Given the description of an element on the screen output the (x, y) to click on. 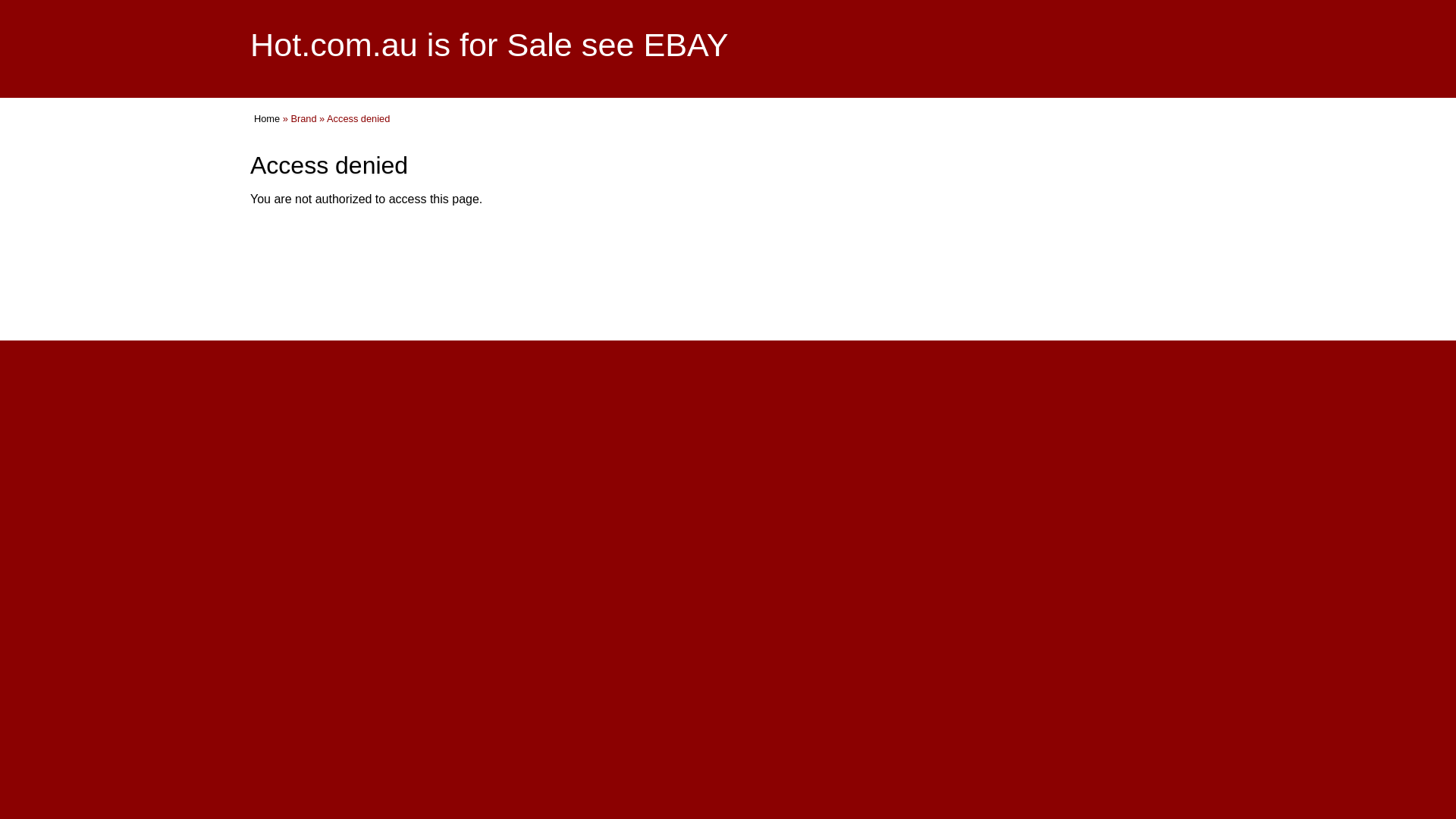
Hot.com.au is for Sale see EBAY Element type: text (489, 44)
Skip to main content Element type: text (690, 1)
Home Element type: text (266, 118)
